Given the description of an element on the screen output the (x, y) to click on. 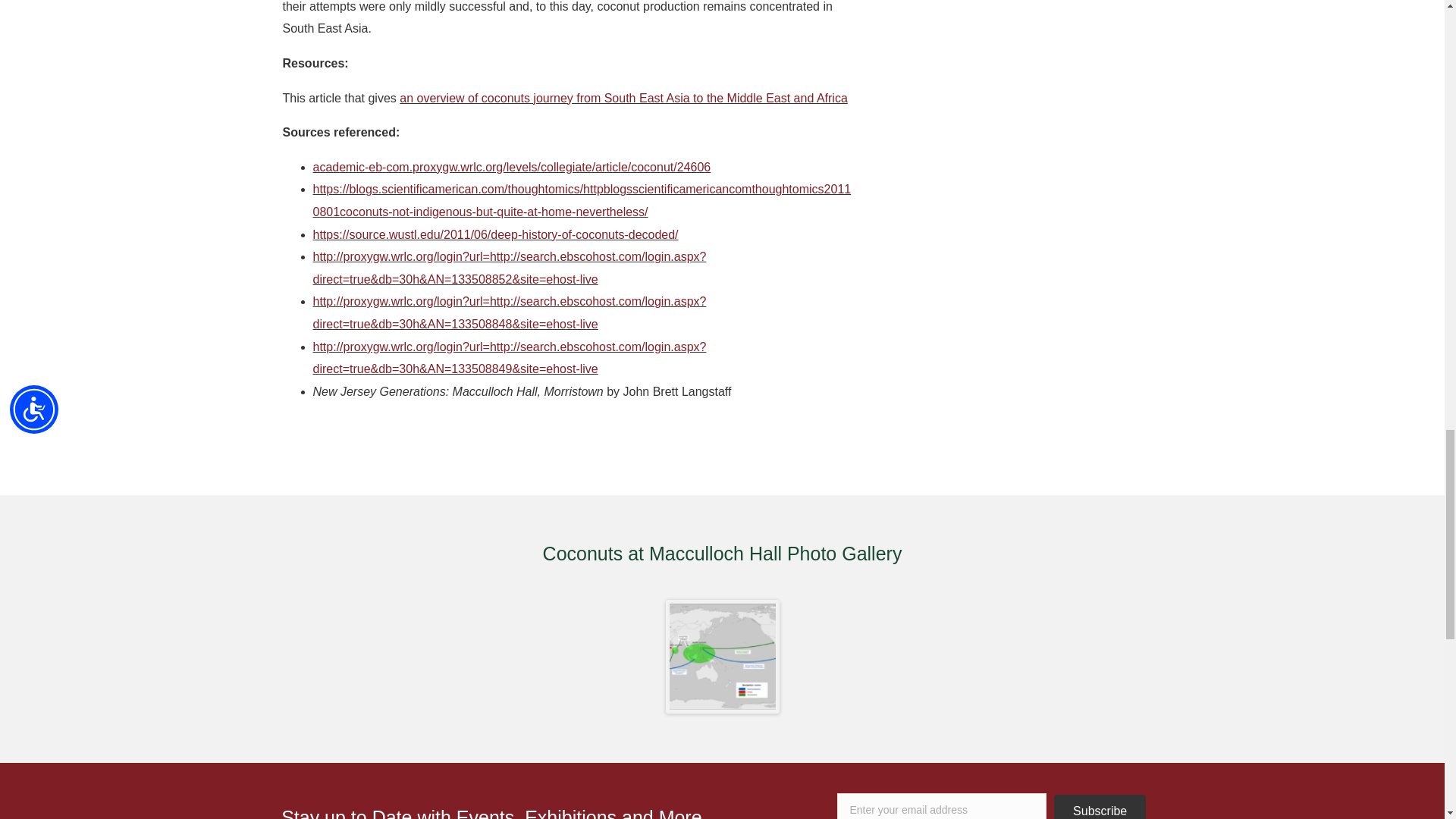
Coconut trade map (721, 656)
